Given the description of an element on the screen output the (x, y) to click on. 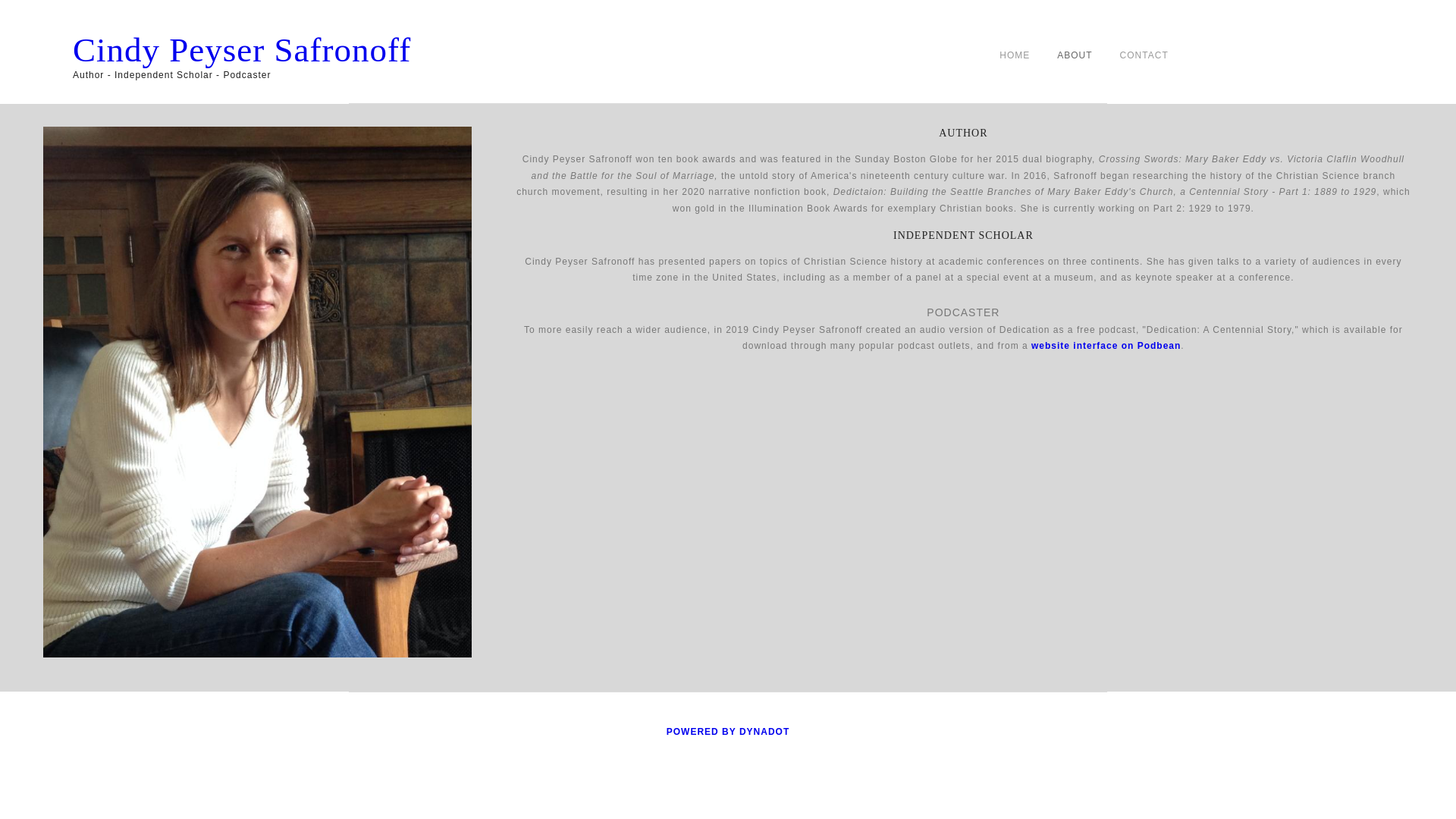
website interface on Podbean (1105, 345)
CONTACT (1143, 55)
POWERED BY DYNADOT (727, 731)
HOME (1013, 55)
Cindy Peyser Safronoff (400, 49)
ABOUT (1074, 55)
